Given the description of an element on the screen output the (x, y) to click on. 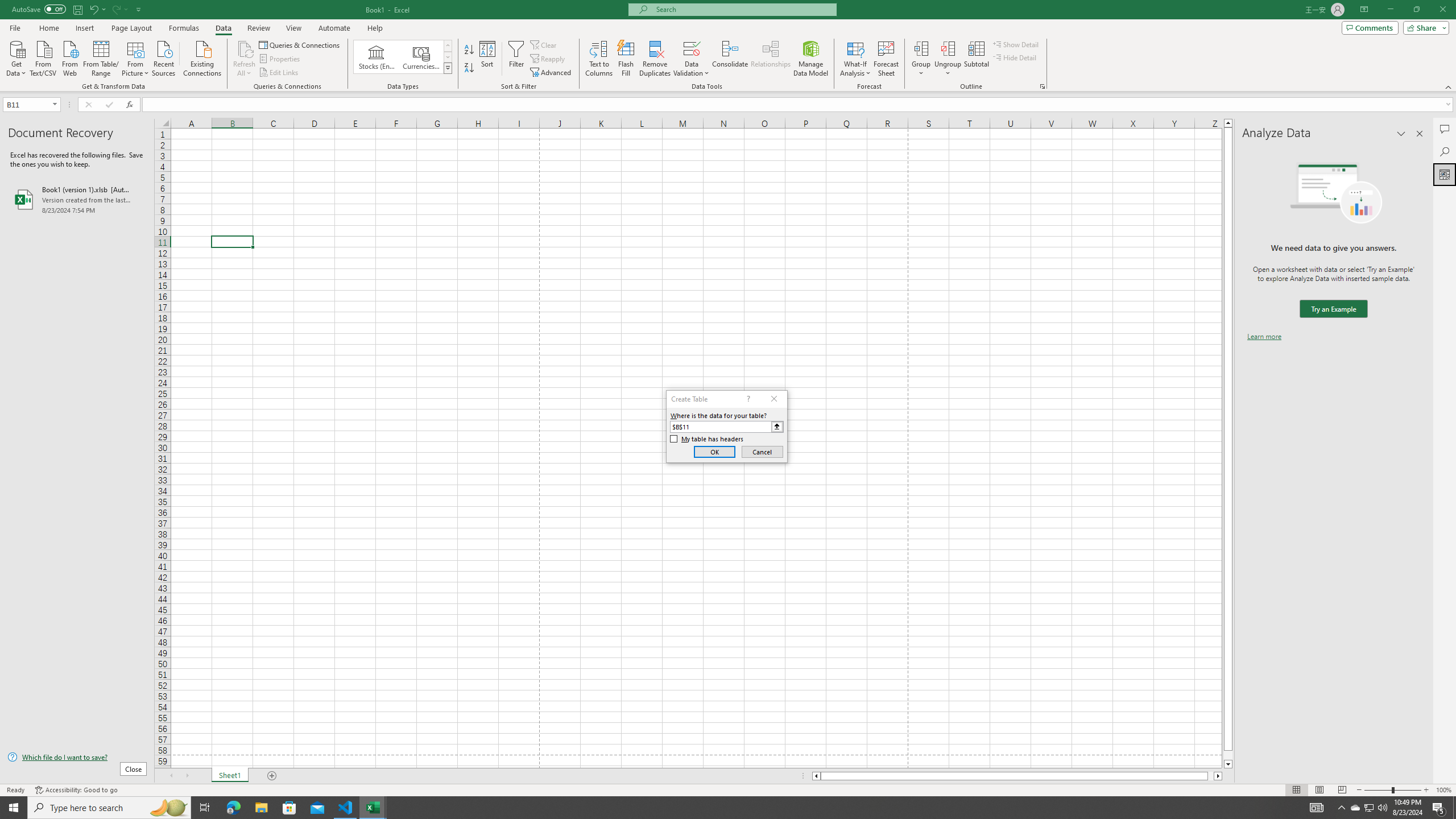
Currencies (English) (420, 56)
Group and Outline Settings (1042, 85)
Forecast Sheet (885, 58)
We need data to give you answers. Try an Example (1333, 308)
